Given the description of an element on the screen output the (x, y) to click on. 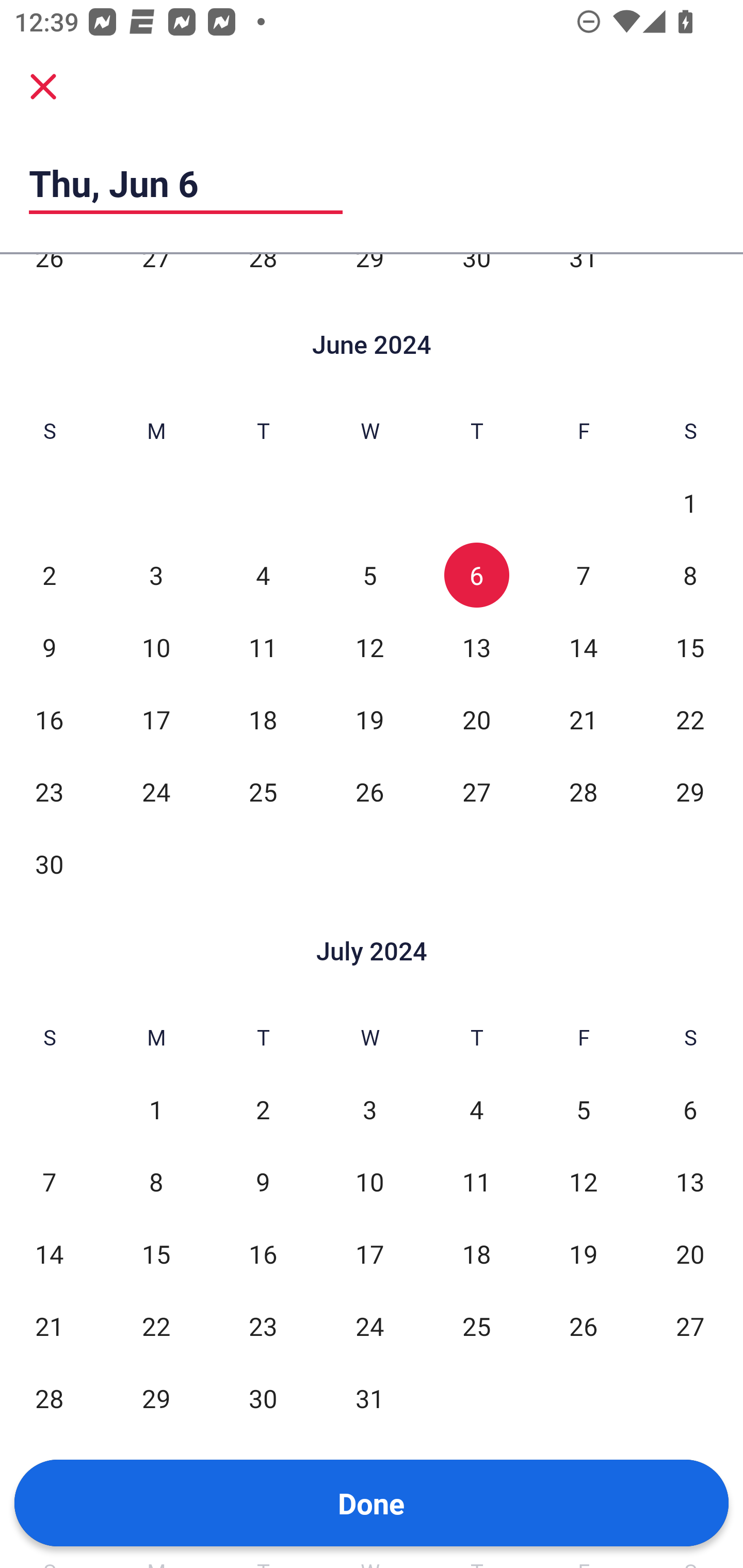
Cancel (43, 86)
Thu, Jun 6 (185, 182)
1 Sat, Jun 1, Not Selected (690, 503)
2 Sun, Jun 2, Not Selected (49, 575)
3 Mon, Jun 3, Not Selected (156, 575)
4 Tue, Jun 4, Not Selected (263, 575)
5 Wed, Jun 5, Not Selected (369, 575)
6 Thu, Jun 6, Selected (476, 575)
7 Fri, Jun 7, Not Selected (583, 575)
8 Sat, Jun 8, Not Selected (690, 575)
9 Sun, Jun 9, Not Selected (49, 647)
10 Mon, Jun 10, Not Selected (156, 647)
11 Tue, Jun 11, Not Selected (263, 647)
12 Wed, Jun 12, Not Selected (369, 647)
13 Thu, Jun 13, Not Selected (476, 647)
14 Fri, Jun 14, Not Selected (583, 647)
15 Sat, Jun 15, Not Selected (690, 647)
16 Sun, Jun 16, Not Selected (49, 719)
17 Mon, Jun 17, Not Selected (156, 719)
18 Tue, Jun 18, Not Selected (263, 719)
19 Wed, Jun 19, Not Selected (369, 719)
20 Thu, Jun 20, Not Selected (476, 719)
21 Fri, Jun 21, Not Selected (583, 719)
22 Sat, Jun 22, Not Selected (690, 719)
23 Sun, Jun 23, Not Selected (49, 791)
24 Mon, Jun 24, Not Selected (156, 791)
25 Tue, Jun 25, Not Selected (263, 791)
26 Wed, Jun 26, Not Selected (369, 791)
27 Thu, Jun 27, Not Selected (476, 791)
28 Fri, Jun 28, Not Selected (583, 791)
29 Sat, Jun 29, Not Selected (690, 791)
30 Sun, Jun 30, Not Selected (49, 863)
1 Mon, Jul 1, Not Selected (156, 1110)
2 Tue, Jul 2, Not Selected (263, 1110)
3 Wed, Jul 3, Not Selected (369, 1110)
4 Thu, Jul 4, Not Selected (476, 1110)
5 Fri, Jul 5, Not Selected (583, 1110)
6 Sat, Jul 6, Not Selected (690, 1110)
7 Sun, Jul 7, Not Selected (49, 1182)
8 Mon, Jul 8, Not Selected (156, 1182)
9 Tue, Jul 9, Not Selected (263, 1182)
10 Wed, Jul 10, Not Selected (369, 1182)
11 Thu, Jul 11, Not Selected (476, 1182)
12 Fri, Jul 12, Not Selected (583, 1182)
13 Sat, Jul 13, Not Selected (690, 1182)
14 Sun, Jul 14, Not Selected (49, 1254)
15 Mon, Jul 15, Not Selected (156, 1254)
16 Tue, Jul 16, Not Selected (263, 1254)
17 Wed, Jul 17, Not Selected (369, 1254)
18 Thu, Jul 18, Not Selected (476, 1254)
